Given the description of an element on the screen output the (x, y) to click on. 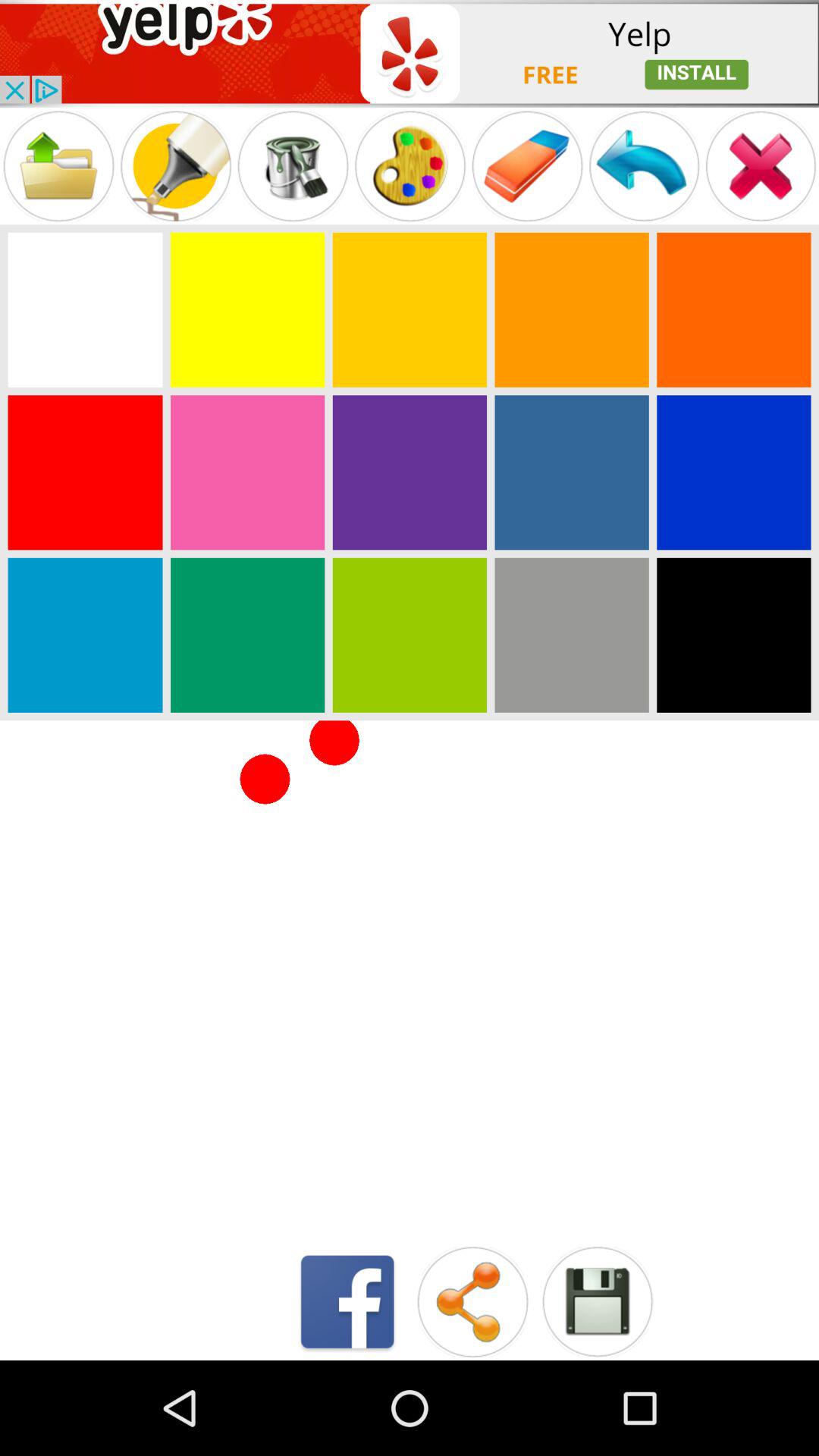
use this colour (733, 472)
